Given the description of an element on the screen output the (x, y) to click on. 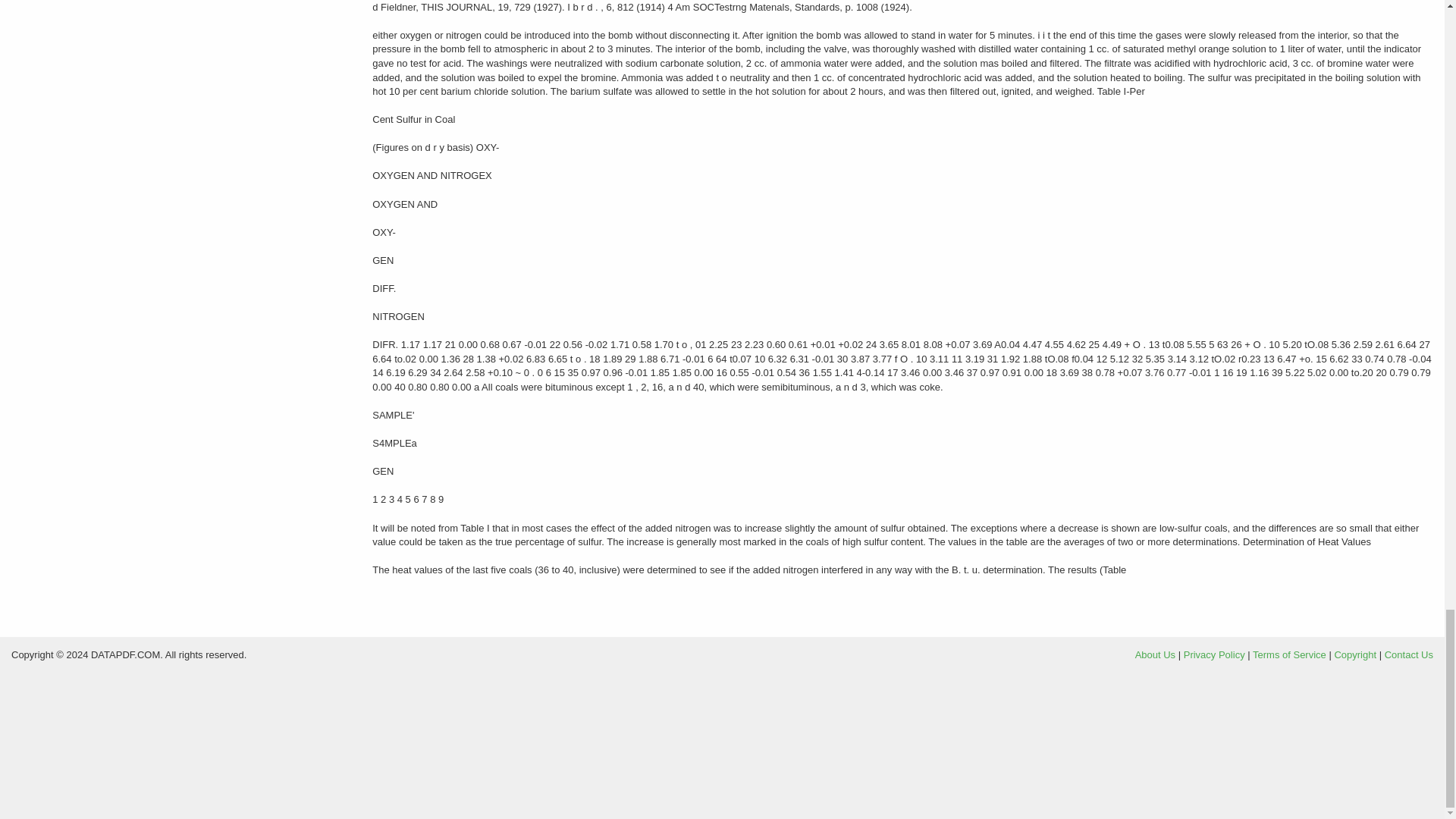
Terms of Service (1289, 654)
Copyright (1354, 654)
About Us (1154, 654)
Contact Us (1408, 654)
Privacy Policy (1213, 654)
